Given the description of an element on the screen output the (x, y) to click on. 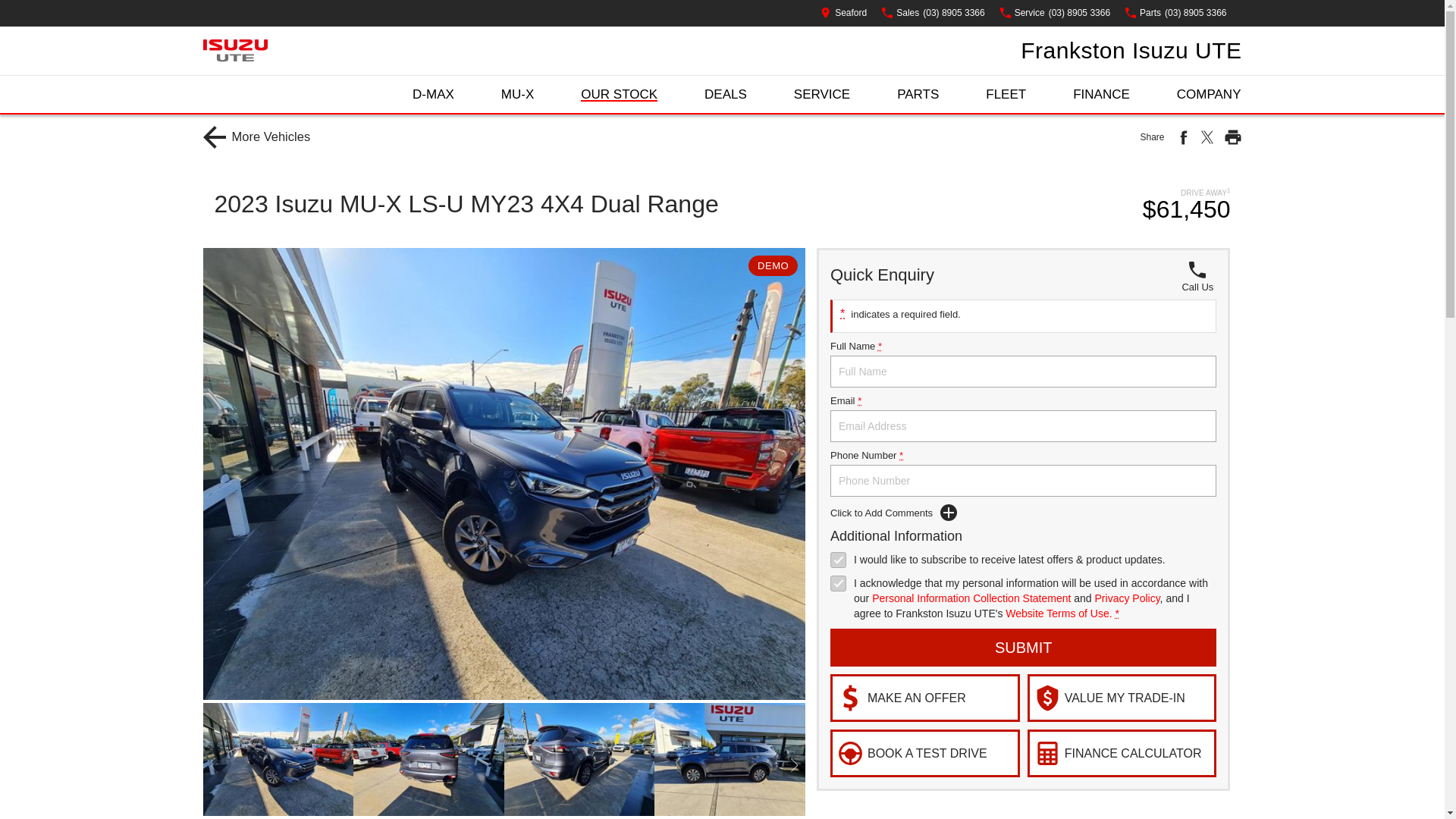
Seaford (843, 12)
Frankston Isuzu UTE (1130, 50)
on (837, 560)
D-MAX (432, 94)
DEALS (725, 94)
MU-X (517, 94)
on (837, 583)
SERVICE (821, 94)
OUR STOCK (619, 94)
